Given the description of an element on the screen output the (x, y) to click on. 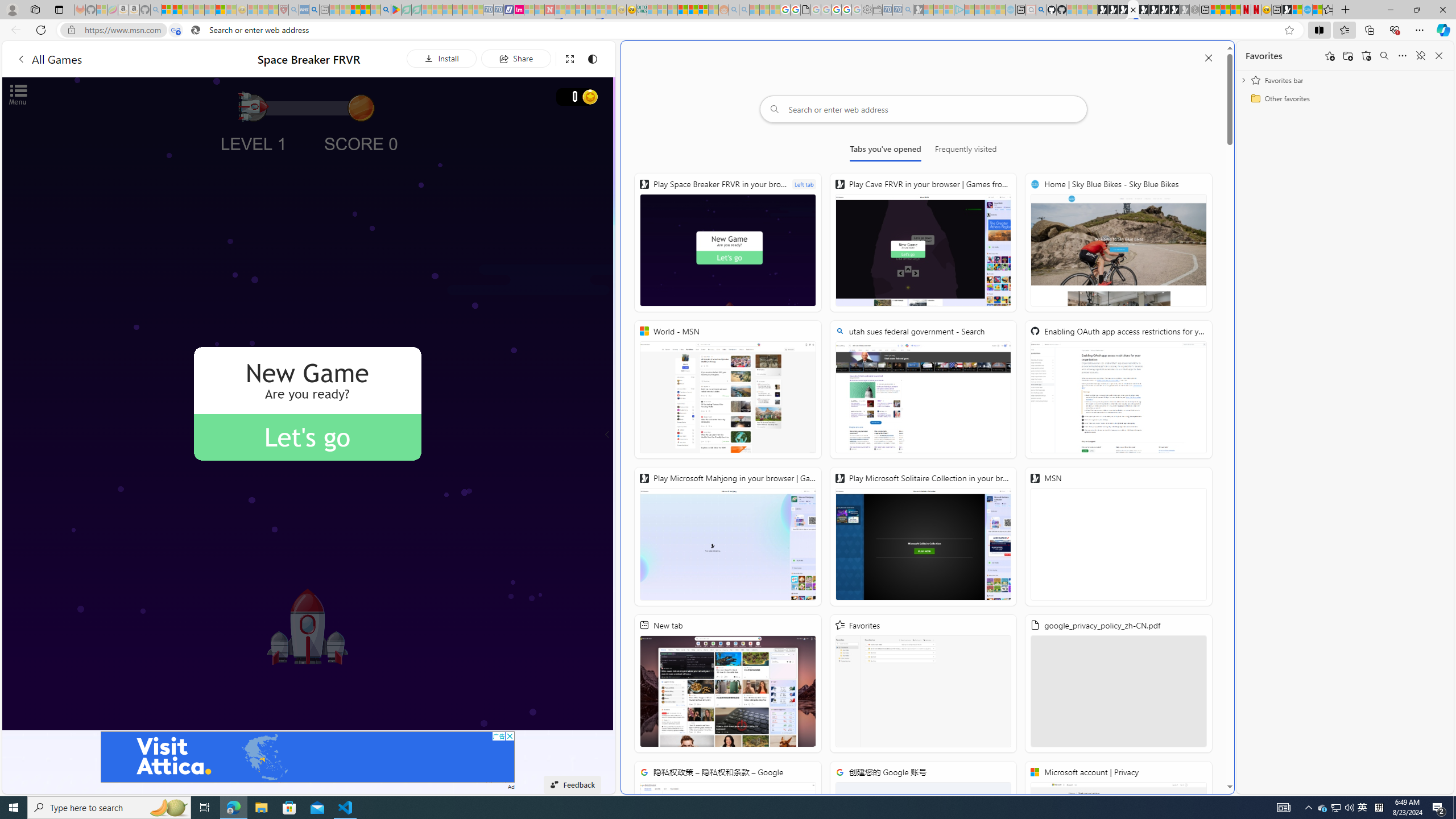
Add folder (1347, 55)
Search favorites (1383, 55)
